Given the description of an element on the screen output the (x, y) to click on. 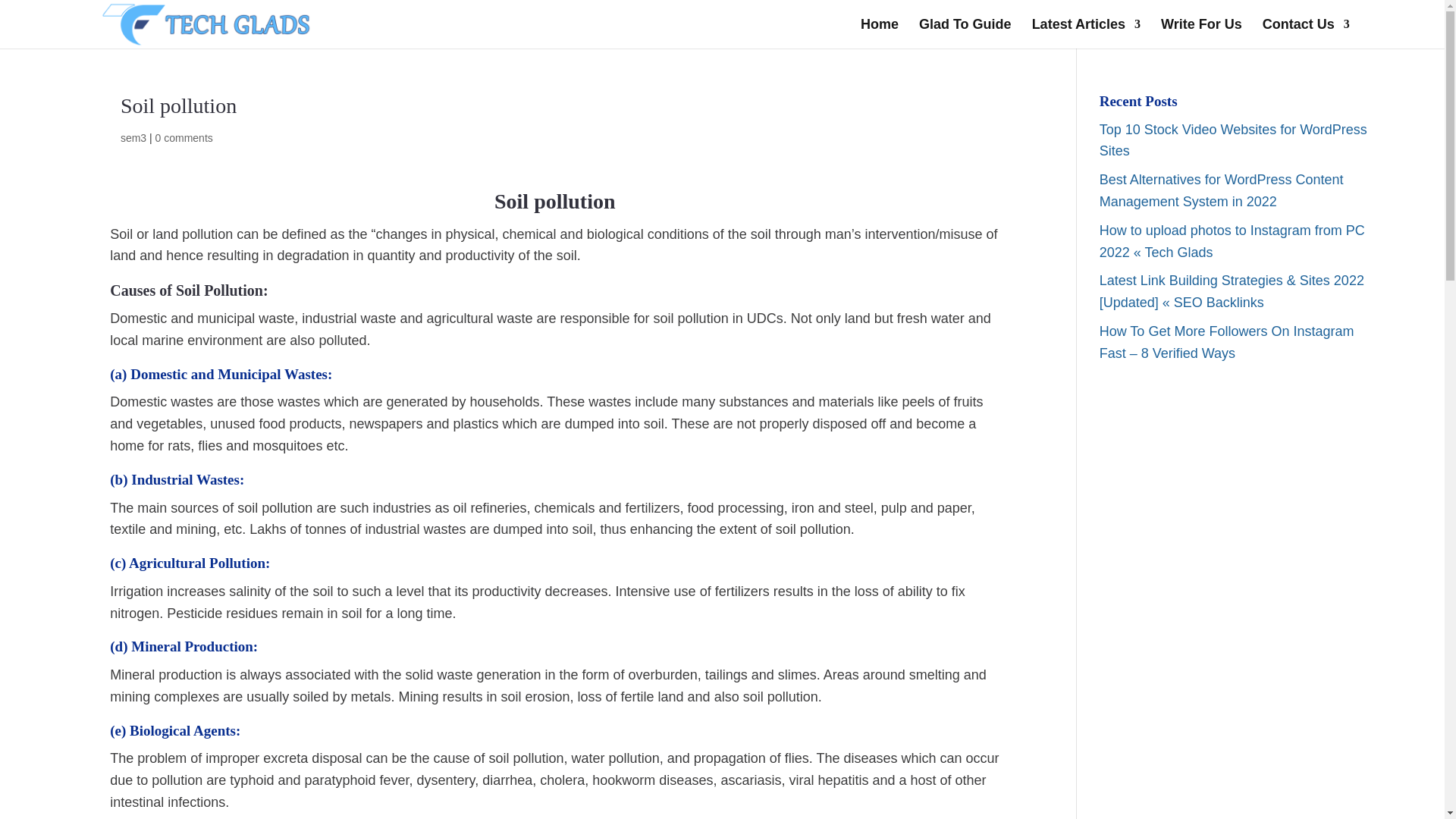
sem3 (133, 137)
Top 10 Stock Video Websites for WordPress Sites (1233, 140)
Contact Us (1305, 33)
0 comments (183, 137)
Home (879, 33)
Advertisement (1236, 737)
Glad To Guide (964, 33)
Write For Us (1200, 33)
Latest Articles (1086, 33)
